Given the description of an element on the screen output the (x, y) to click on. 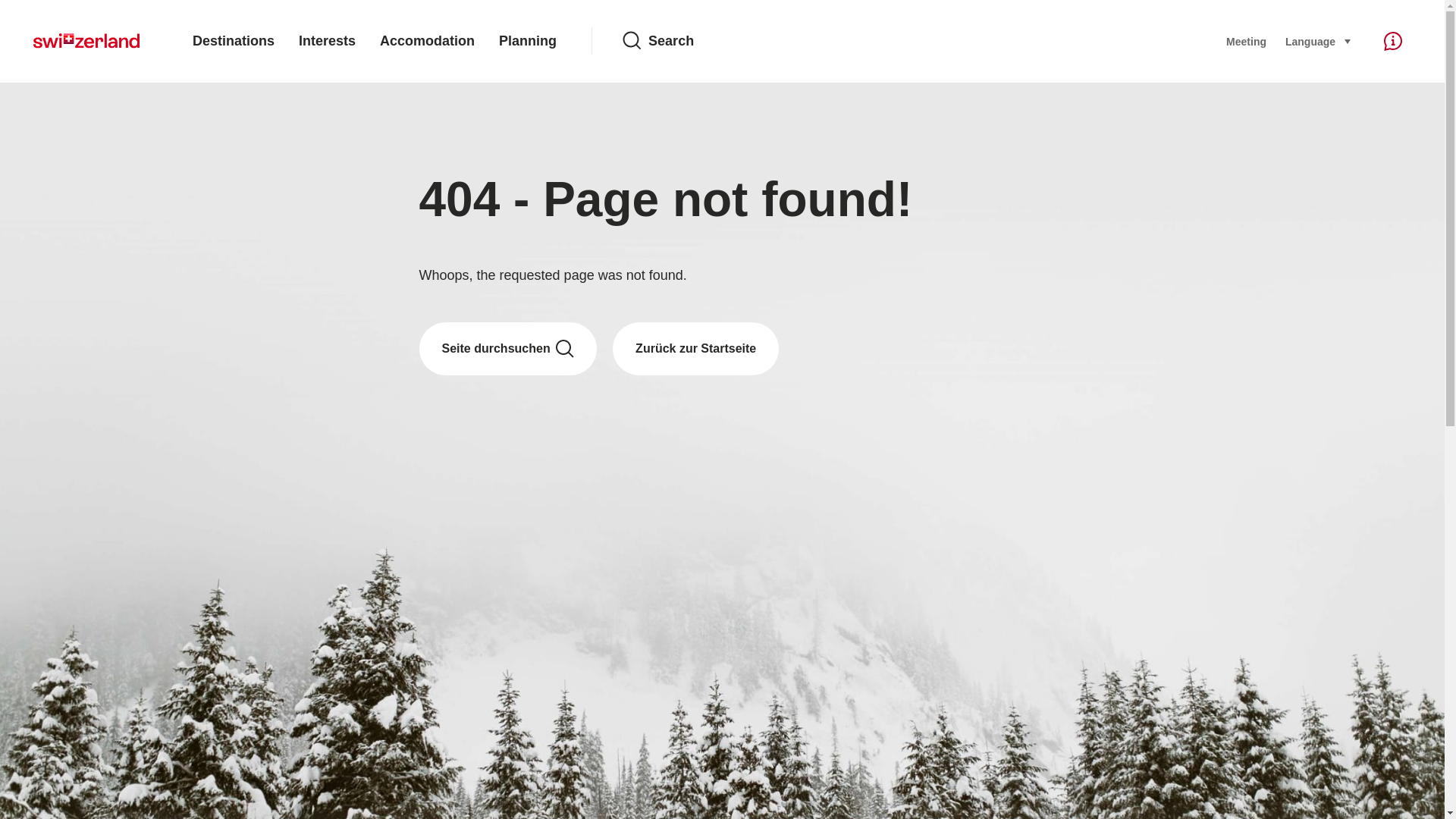
Destinations (233, 41)
Interests (327, 41)
Planning (527, 41)
MySwitzerland (86, 41)
Accomodation (427, 41)
Search (912, 41)
Meeting (1245, 40)
